Given the description of an element on the screen output the (x, y) to click on. 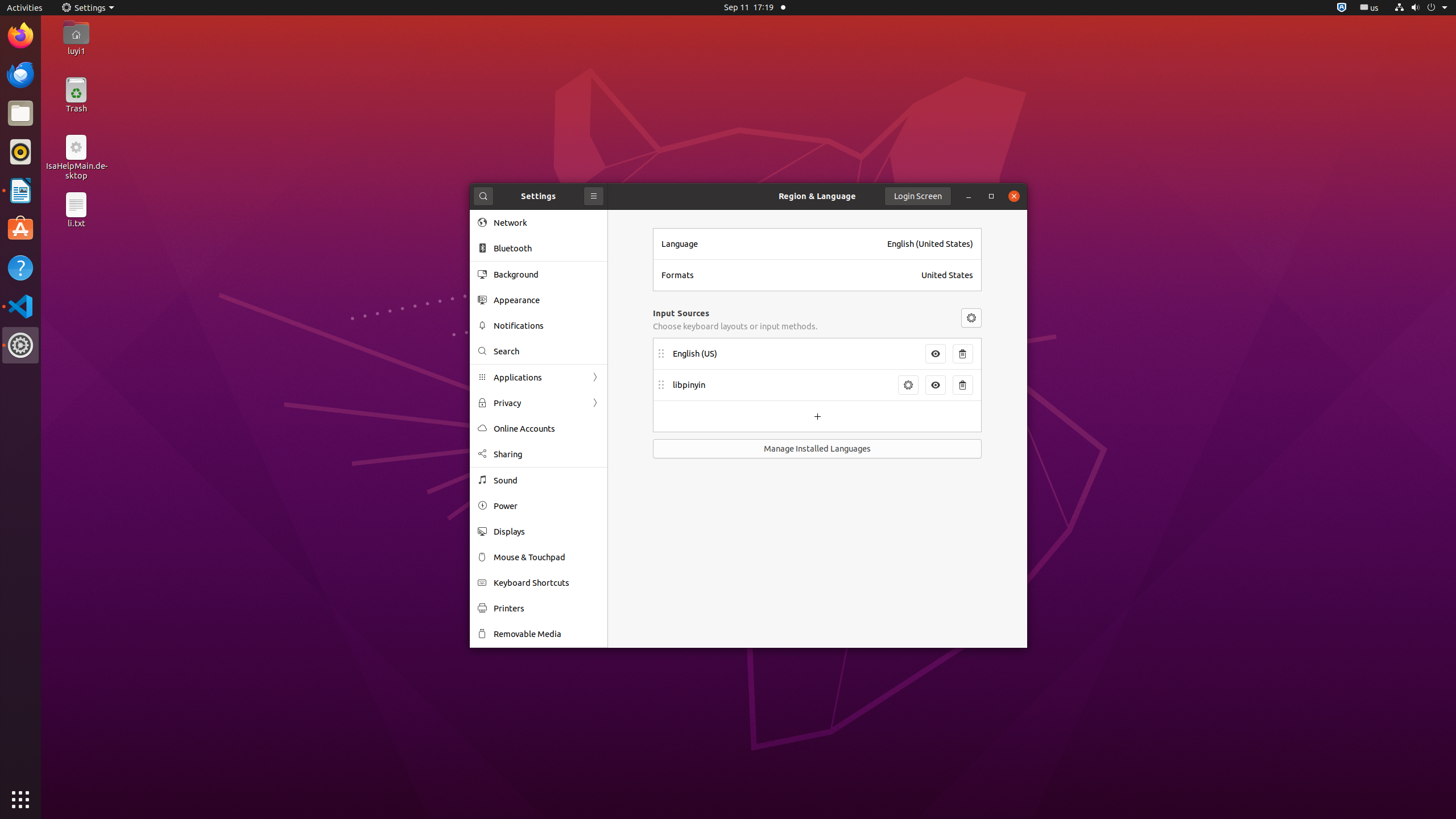
Activities Element type: label (24, 7)
Search Element type: toggle-button (483, 196)
